Given the description of an element on the screen output the (x, y) to click on. 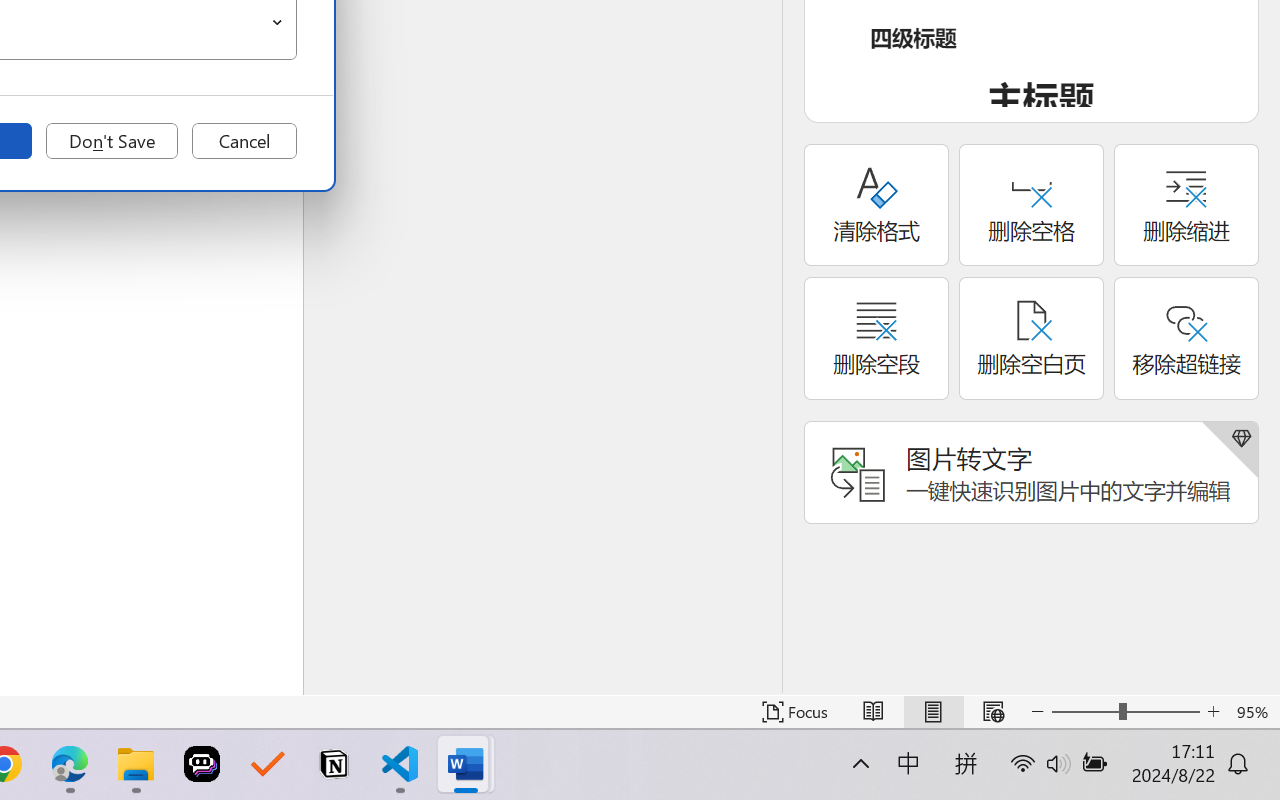
Cancel (244, 141)
